Given the description of an element on the screen output the (x, y) to click on. 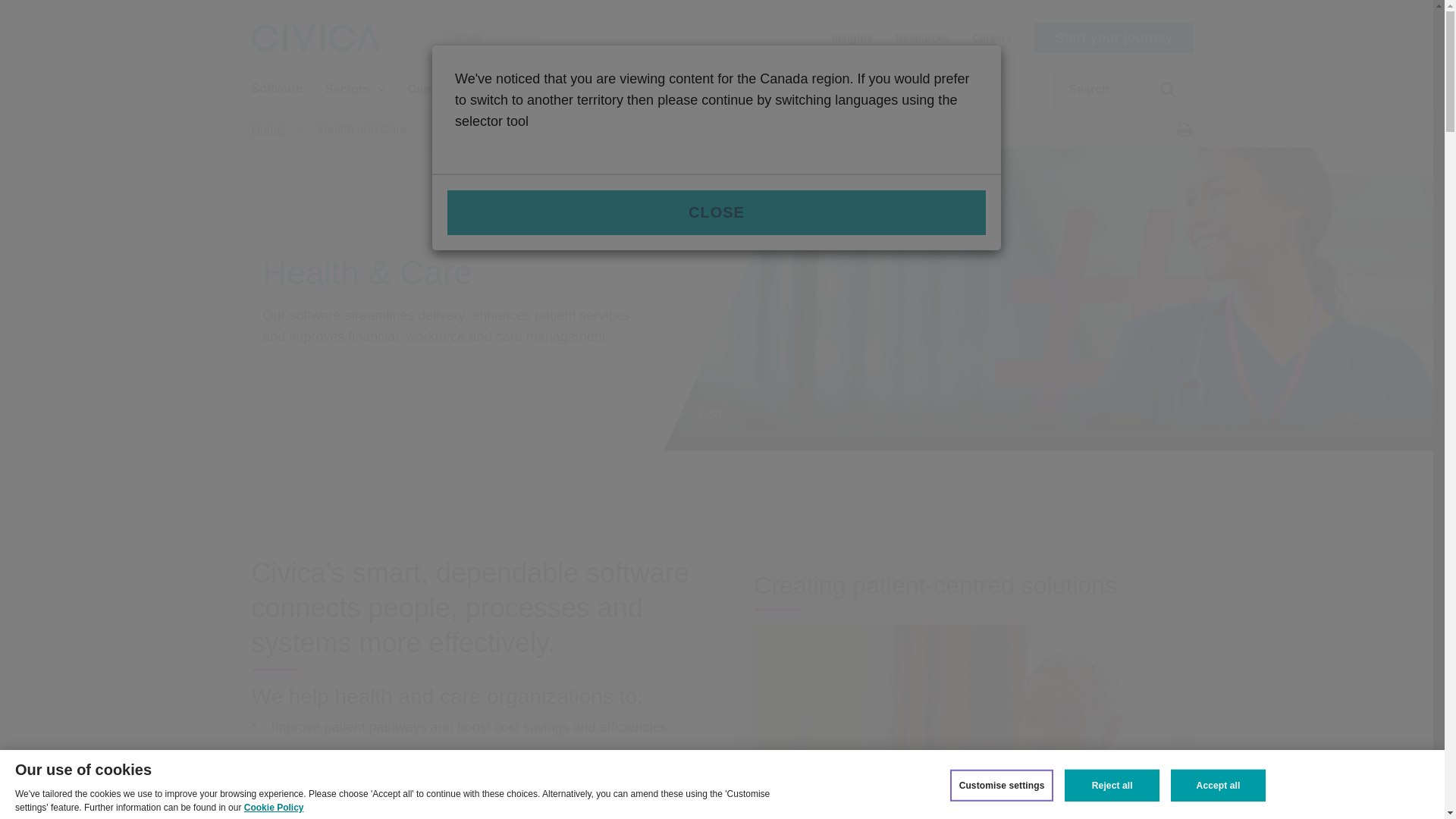
Start your journey (1112, 37)
Search (1159, 95)
Careers (991, 37)
Search (1159, 95)
Search (1159, 95)
Capabilities (449, 88)
Software (276, 88)
Home (267, 128)
Canada (485, 37)
Sectors (354, 88)
Print (1183, 128)
CLOSE (715, 212)
Insights (851, 37)
Resources (922, 37)
